Given the description of an element on the screen output the (x, y) to click on. 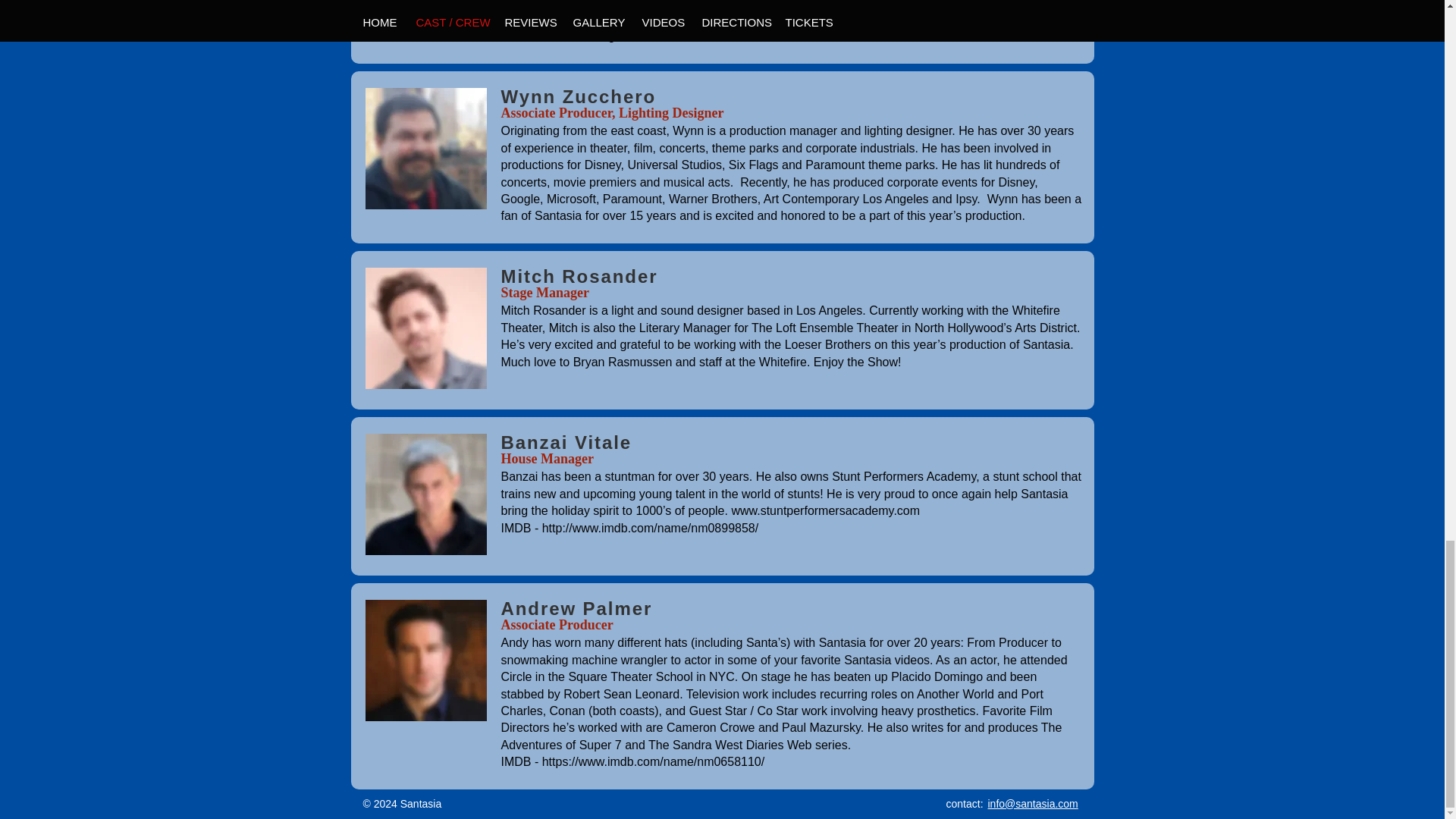
Facebook Like (722, 802)
www.stuntperformersacademy.com (825, 510)
